Given the description of an element on the screen output the (x, y) to click on. 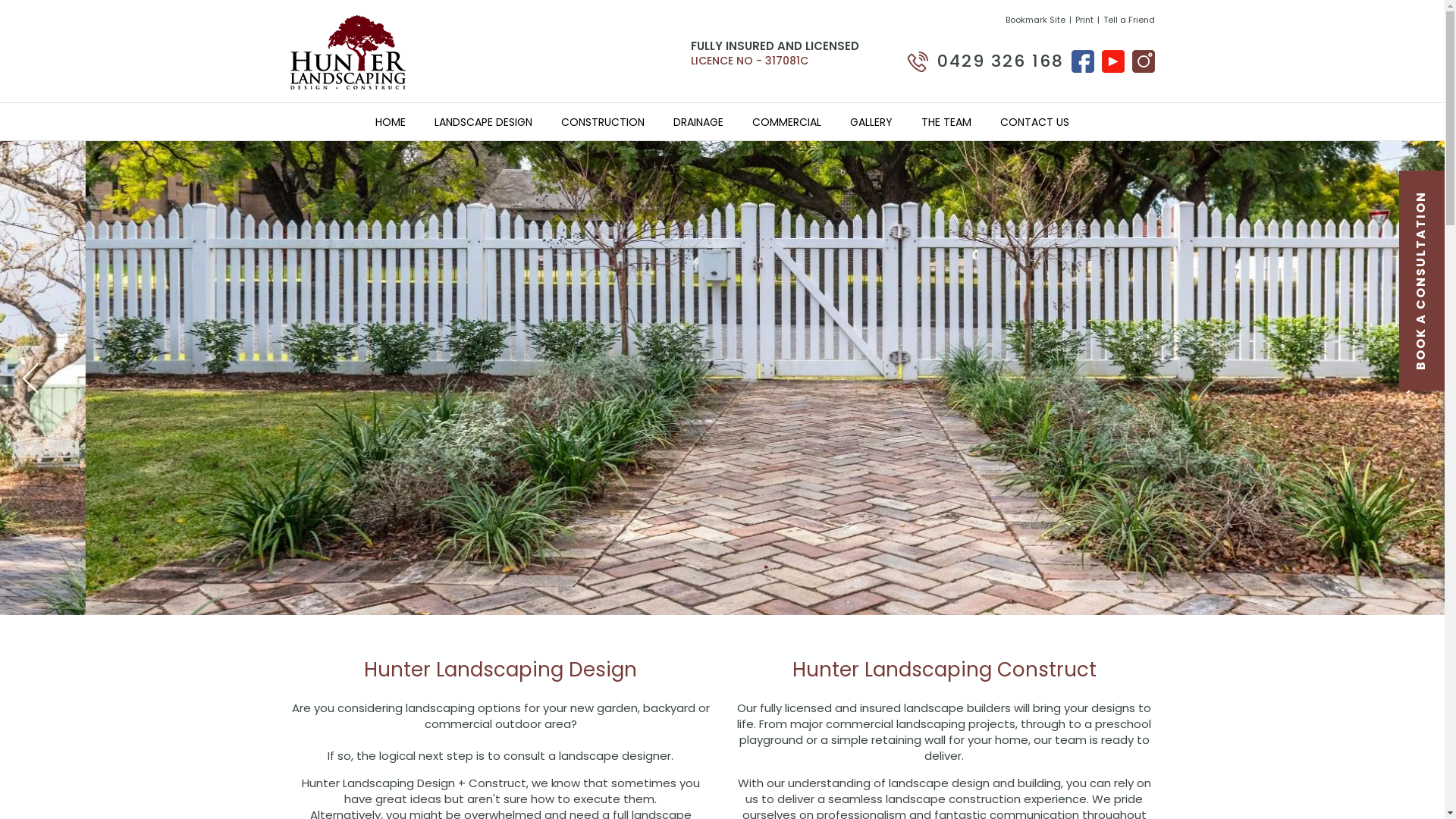
Next Element type: text (1413, 378)
Bookmark Site Element type: text (1035, 19)
HOME Element type: text (390, 122)
facebook Element type: text (1081, 61)
CONTACT US Element type: text (1034, 122)
DRAINAGE Element type: text (698, 122)
0429 326 168 Element type: text (984, 61)
THE TEAM Element type: text (946, 122)
instagram Element type: text (1142, 61)
Hunter Landscaping Design plus Construct Element type: hover (346, 51)
LANDSCAPE DESIGN Element type: text (483, 122)
Print Element type: text (1084, 19)
COMMERCIAL Element type: text (786, 122)
CONSTRUCTION Element type: text (602, 122)
GALLERY Element type: text (871, 122)
Previous Element type: text (29, 378)
youtube Element type: text (1112, 61)
Tell a Friend Element type: text (1128, 19)
BOOK A CONSULTATION Element type: text (1421, 280)
